Given the description of an element on the screen output the (x, y) to click on. 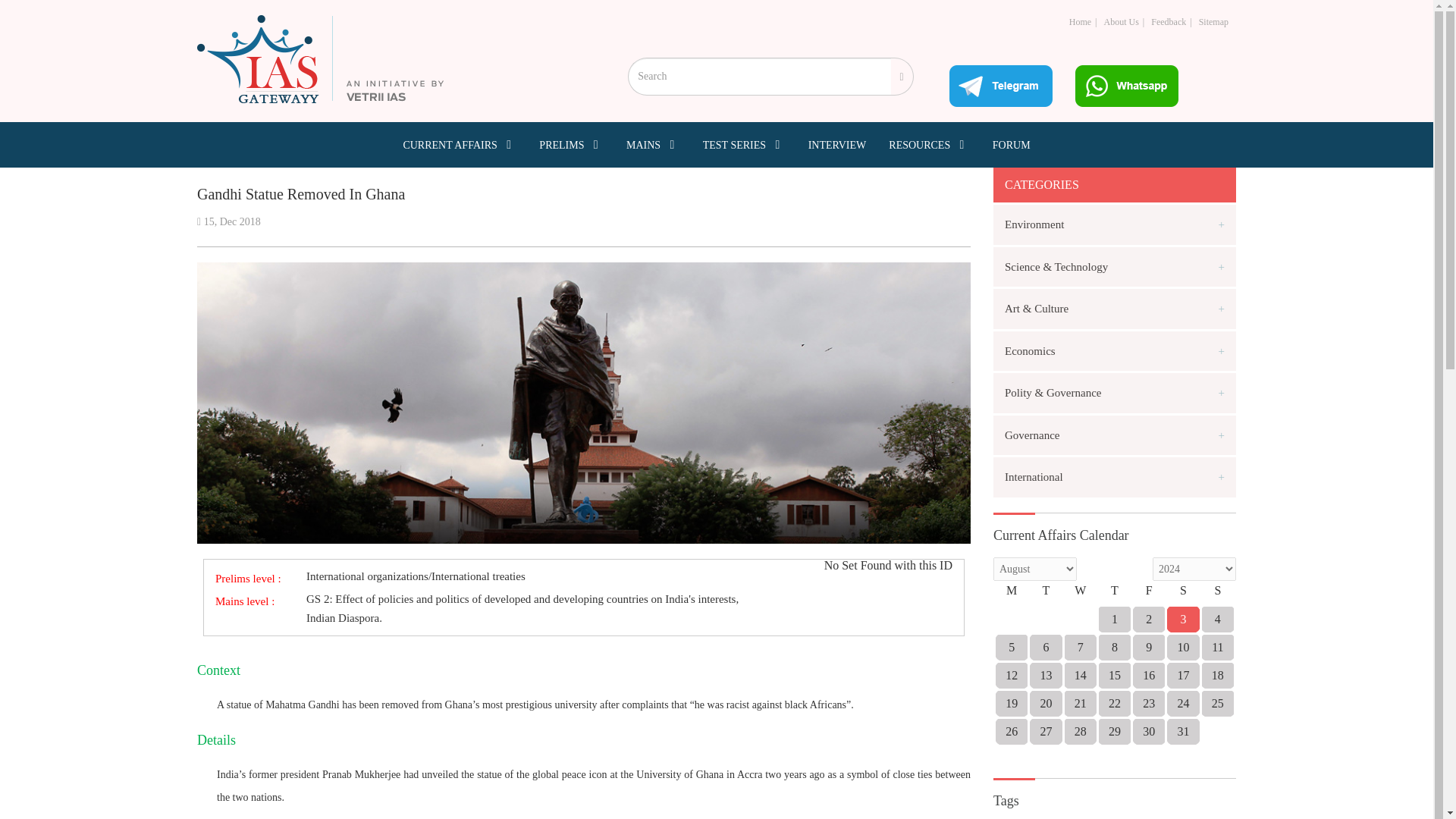
Monday (1011, 594)
About Us (1120, 21)
IAS Gatewayy (320, 59)
Thursday (1114, 594)
MAINS (652, 144)
Sitemap (1213, 21)
Friday (1149, 594)
Governance (1114, 435)
Wednesday (1079, 594)
Feedback (1168, 21)
International (1114, 477)
Environment (1114, 224)
Tuesday (1045, 594)
Economics (1114, 350)
TEST SERIES (744, 144)
